Given the description of an element on the screen output the (x, y) to click on. 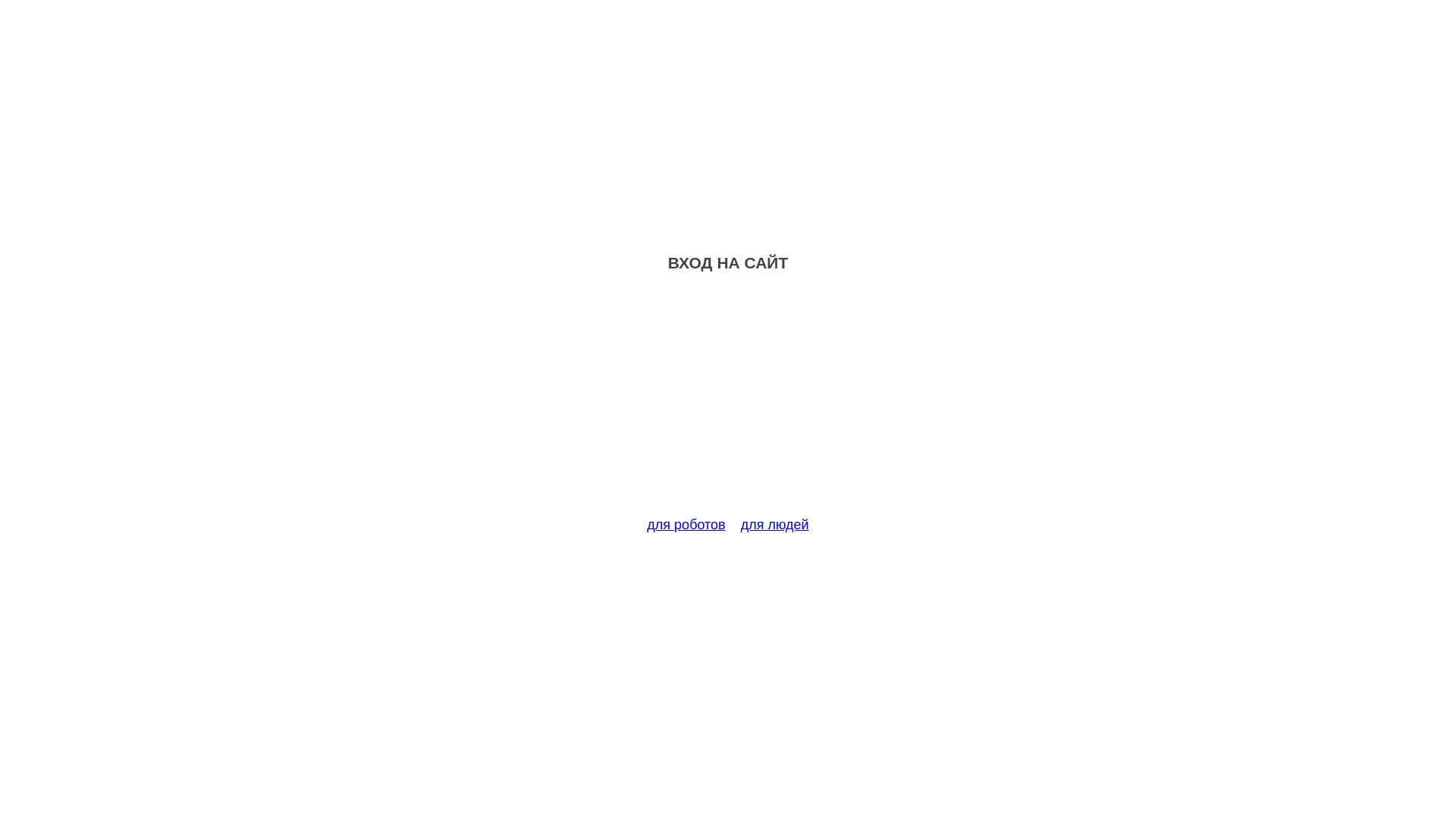
Advertisement Element type: hover (727, 403)
